Given the description of an element on the screen output the (x, y) to click on. 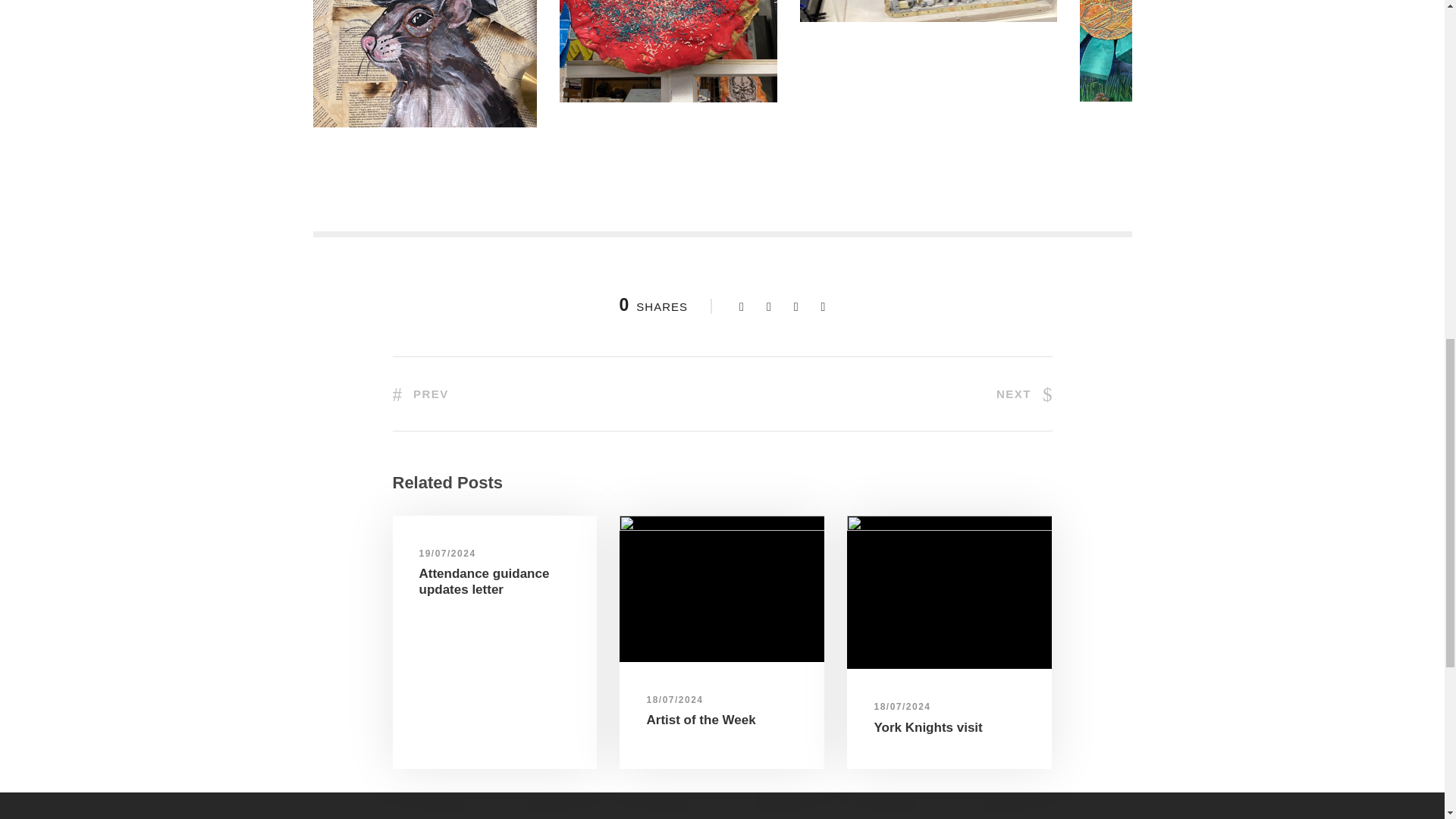
Picture4 (1191, 50)
Picture2 (668, 51)
image006 (949, 592)
Picture1 (424, 63)
Picture3 (928, 11)
Picture 1 (722, 588)
